Given the description of an element on the screen output the (x, y) to click on. 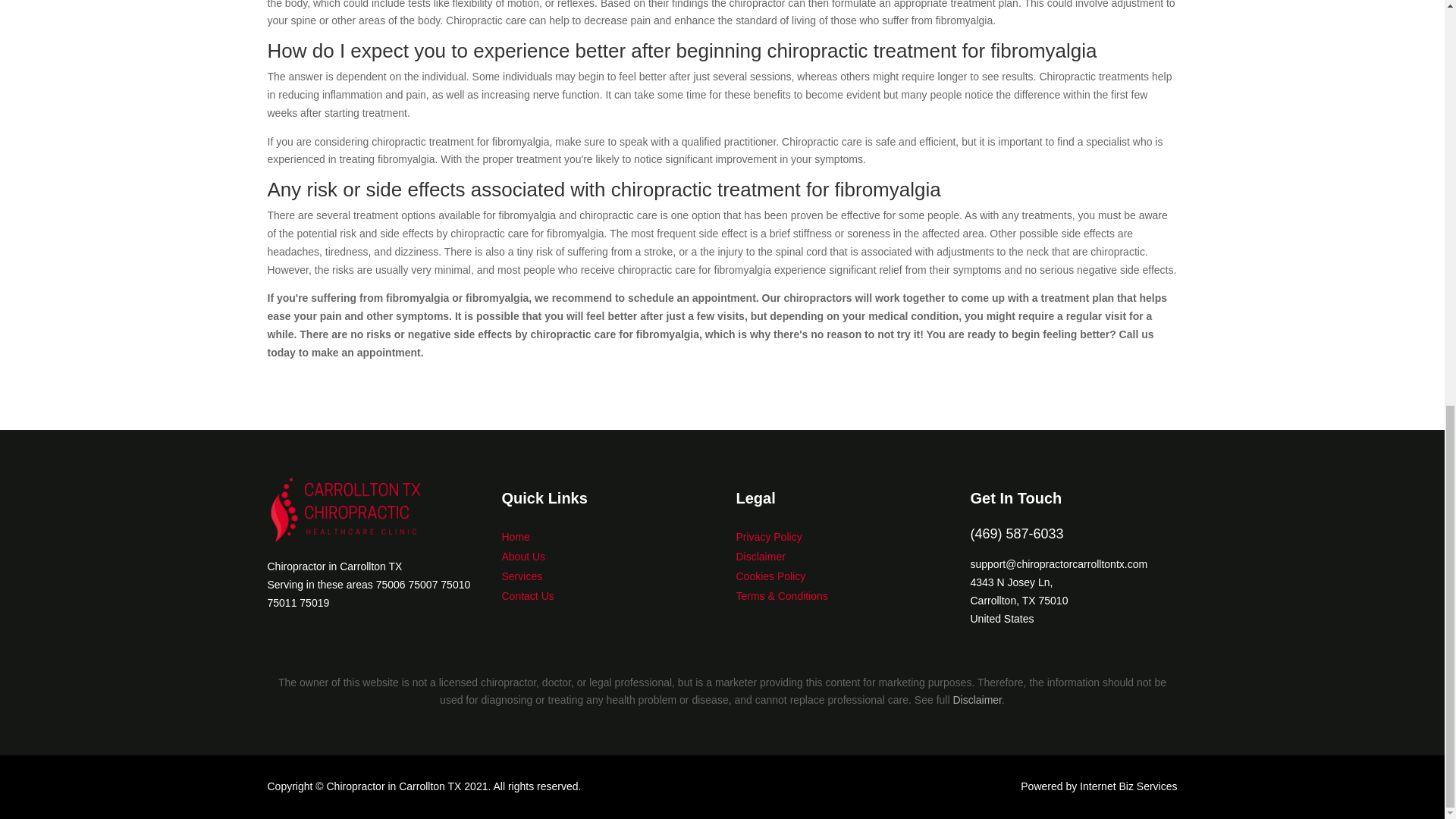
Home (515, 536)
Privacy Policy (768, 536)
Services (522, 576)
About Us (524, 556)
chiropractorcarrolltontx.com (370, 509)
Contact Us (528, 595)
Disclaimer (759, 556)
